Given the description of an element on the screen output the (x, y) to click on. 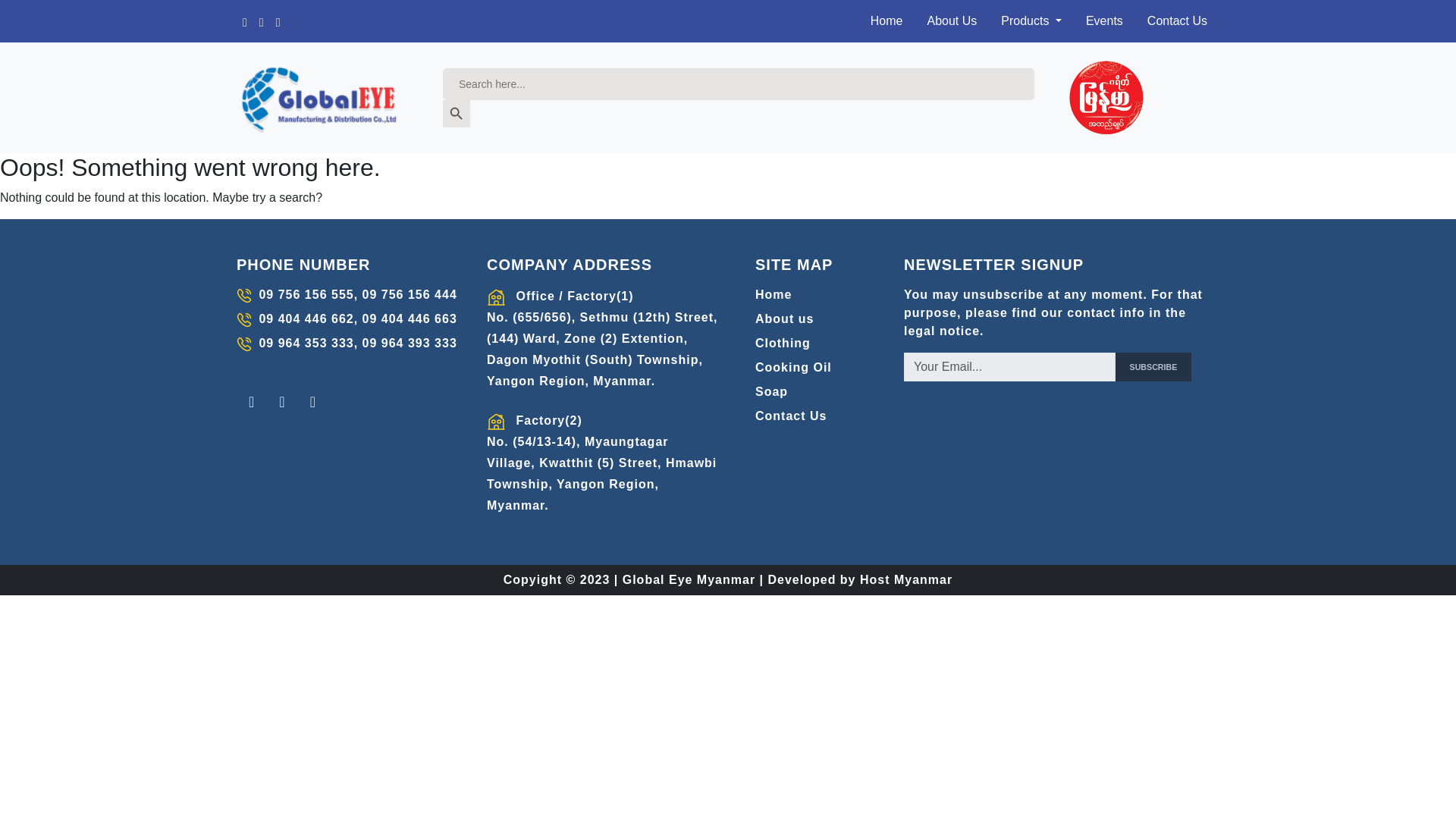
Soap (811, 392)
Search Button (456, 113)
Home (887, 20)
Events (1104, 20)
About us (811, 319)
Clothing (811, 343)
Products (1031, 20)
About Us (951, 20)
SUBSCRIBE (1153, 366)
Home (811, 294)
